Given the description of an element on the screen output the (x, y) to click on. 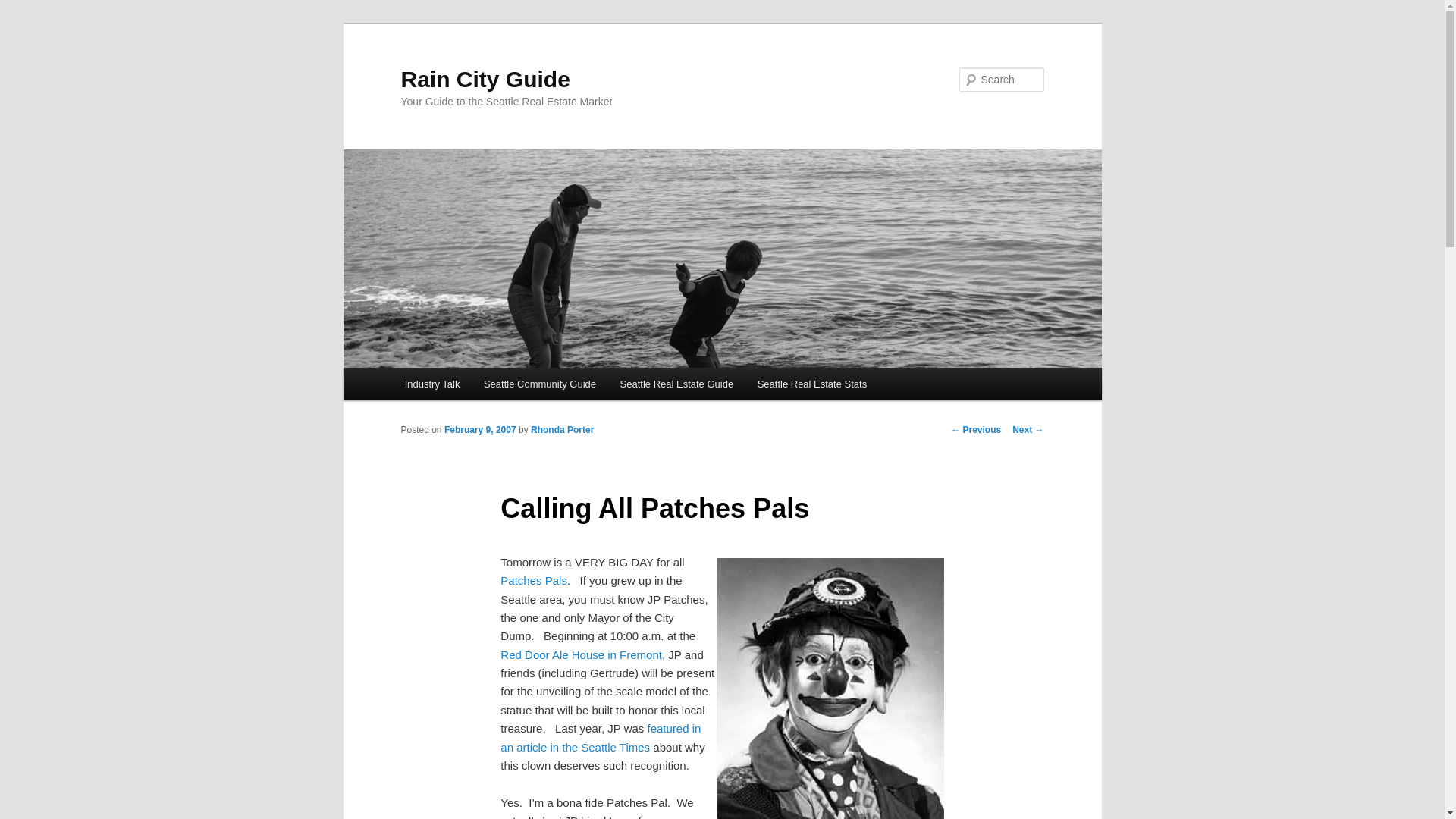
Industry Talk (432, 383)
Rain City Guide (484, 78)
View all posts by Rhonda Porter (562, 429)
Search (24, 8)
5:22 pm (480, 429)
